Given the description of an element on the screen output the (x, y) to click on. 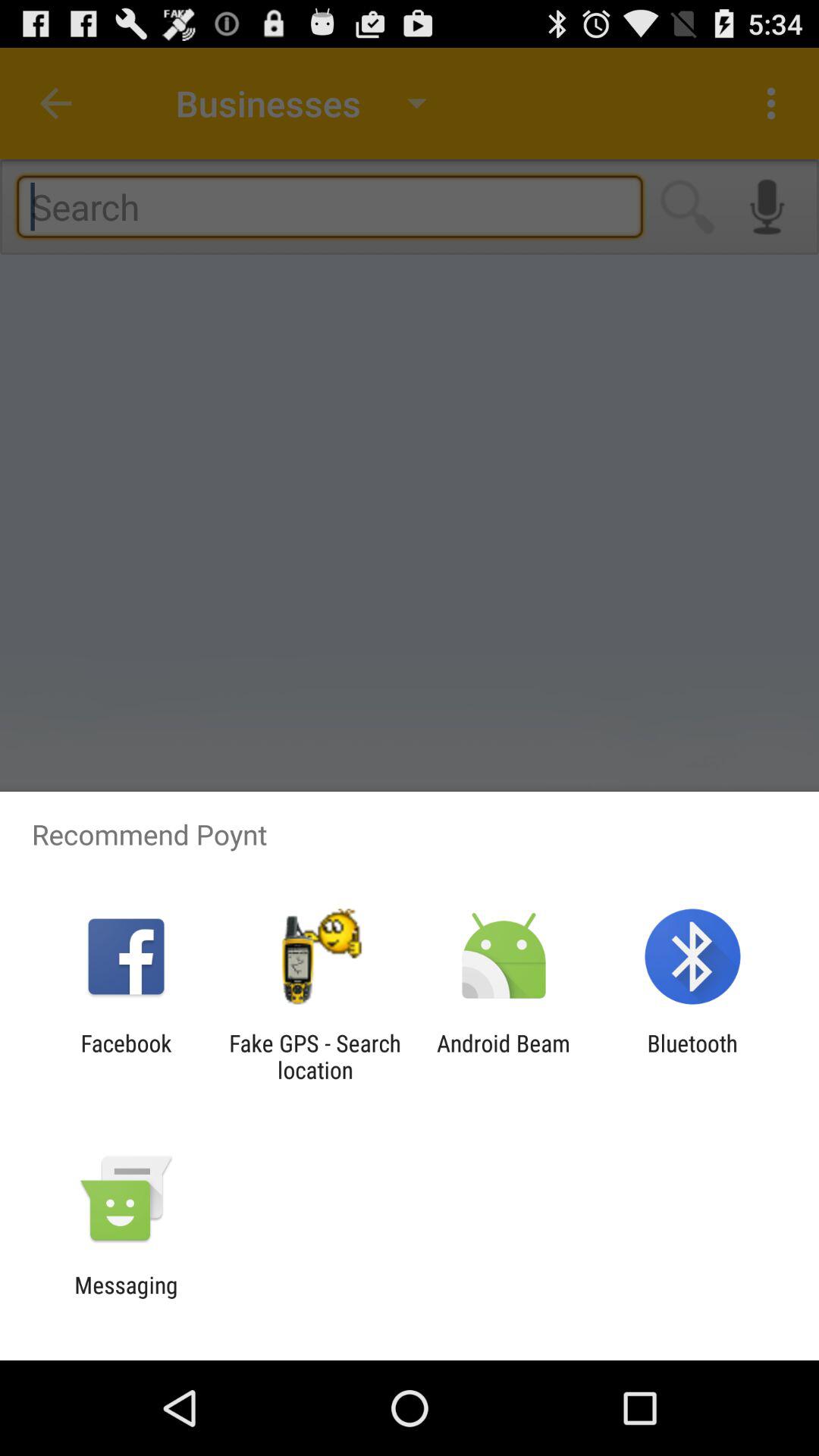
turn off fake gps search (314, 1056)
